Given the description of an element on the screen output the (x, y) to click on. 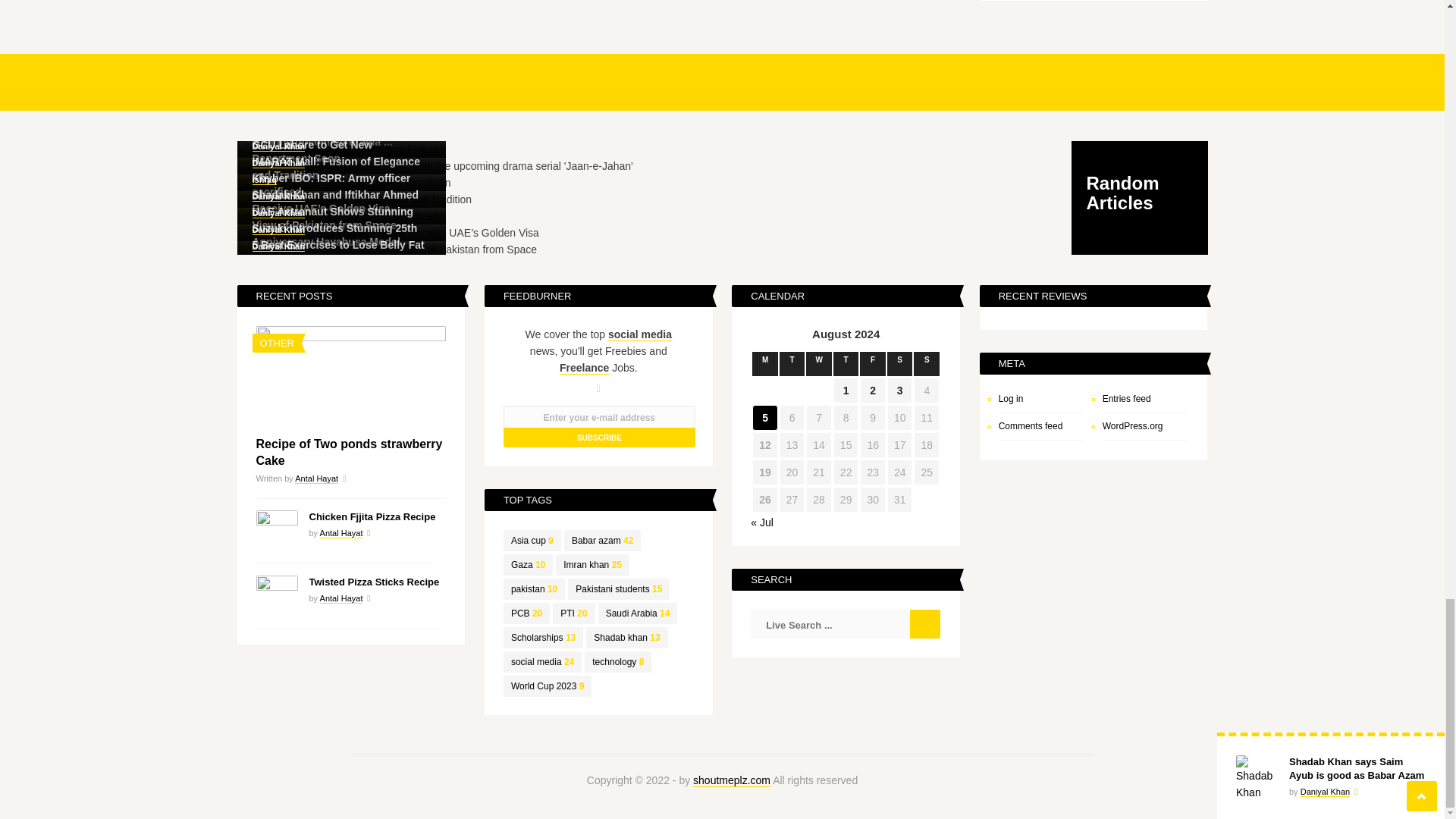
Search (925, 623)
Subscribe (599, 437)
